Given the description of an element on the screen output the (x, y) to click on. 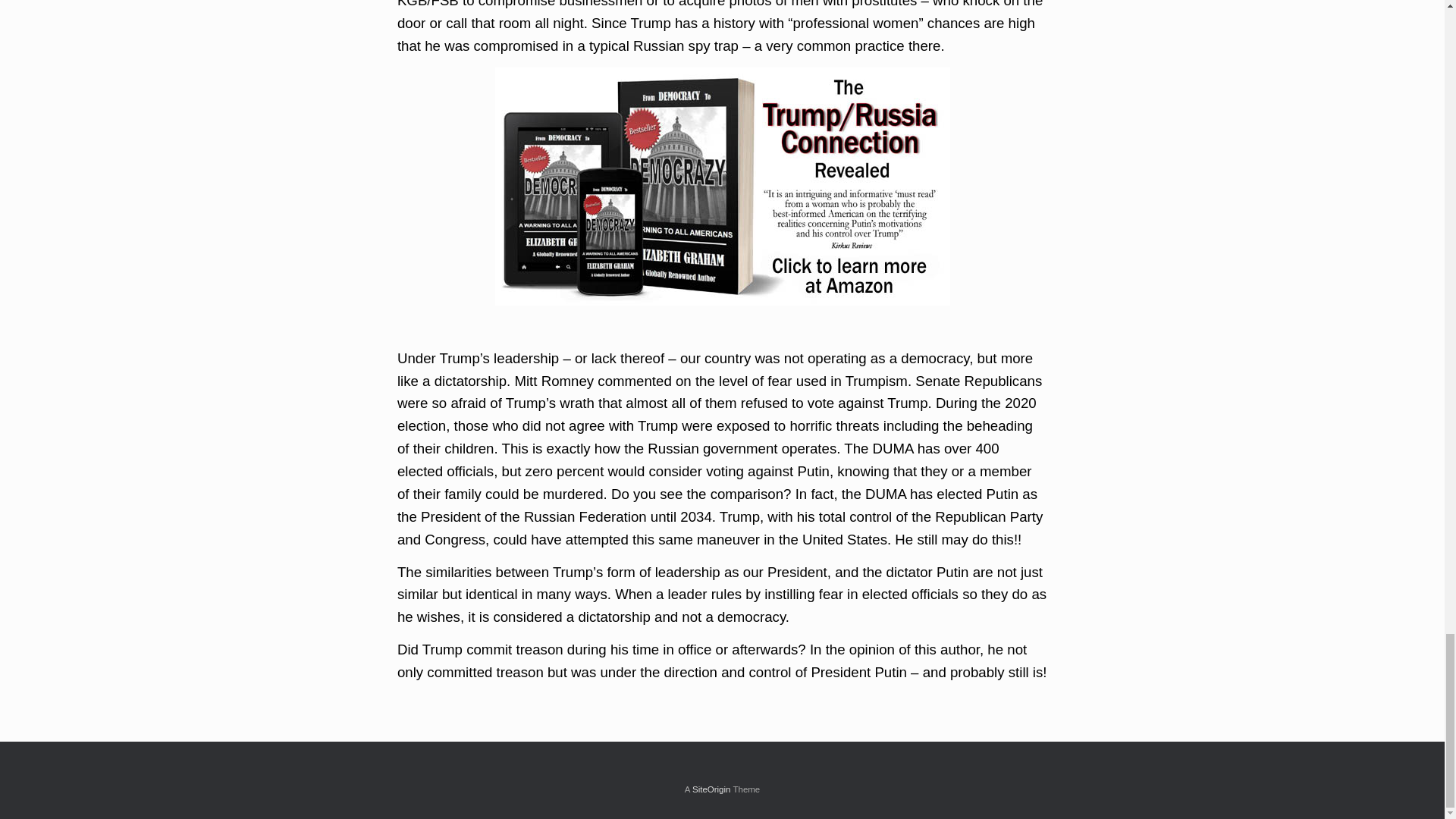
SiteOrigin (711, 788)
